Given the description of an element on the screen output the (x, y) to click on. 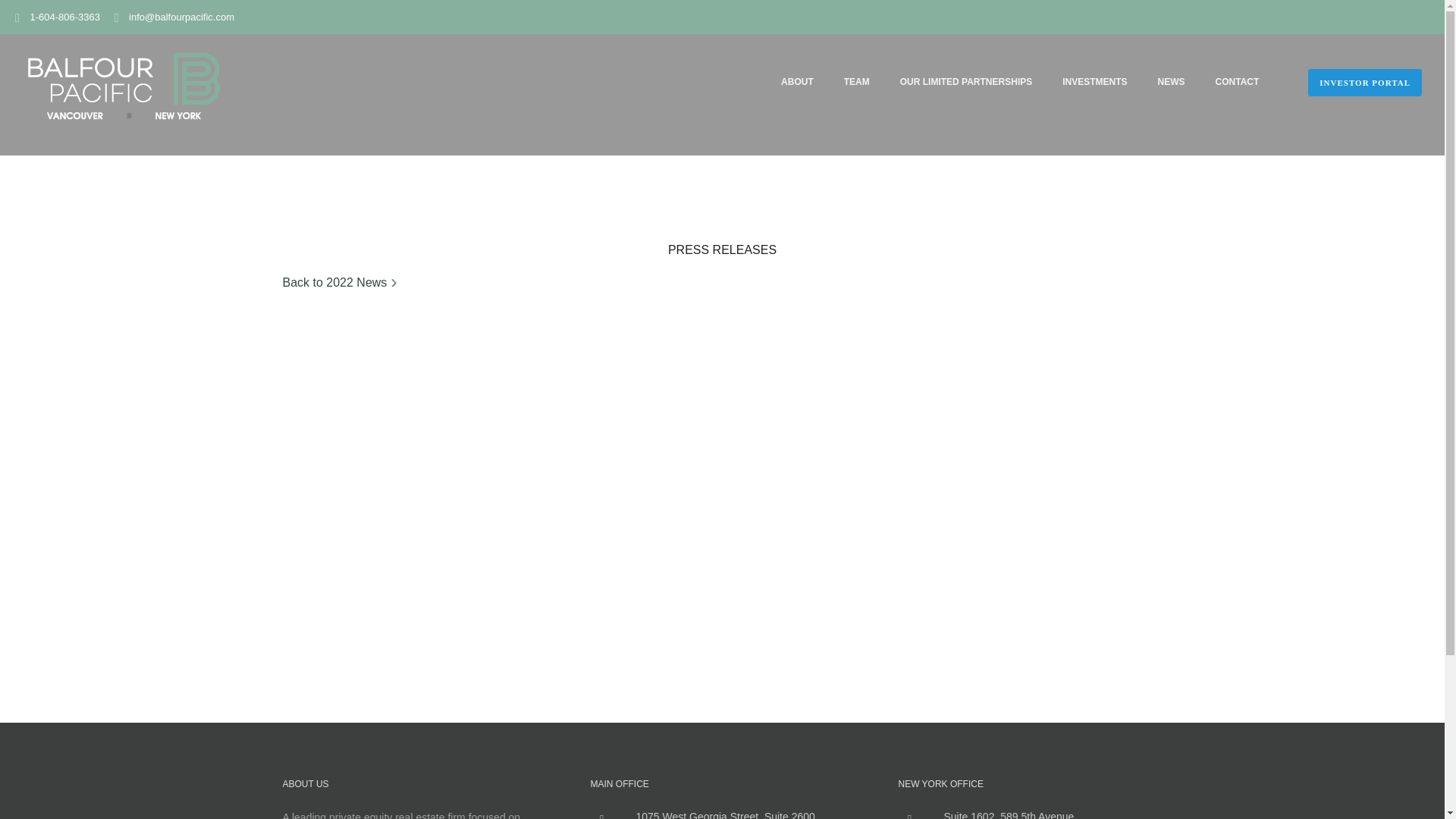
1-604-806-3363 (64, 16)
TEAM (856, 81)
NEWS (1170, 81)
OUR LIMITED PARTNERSHIPS (965, 81)
INVESTMENTS (1093, 81)
ABOUT (796, 81)
ABOUT (796, 81)
INVESTOR PORTAL (1364, 82)
TEAM (856, 81)
CONTACT (1237, 81)
